Given the description of an element on the screen output the (x, y) to click on. 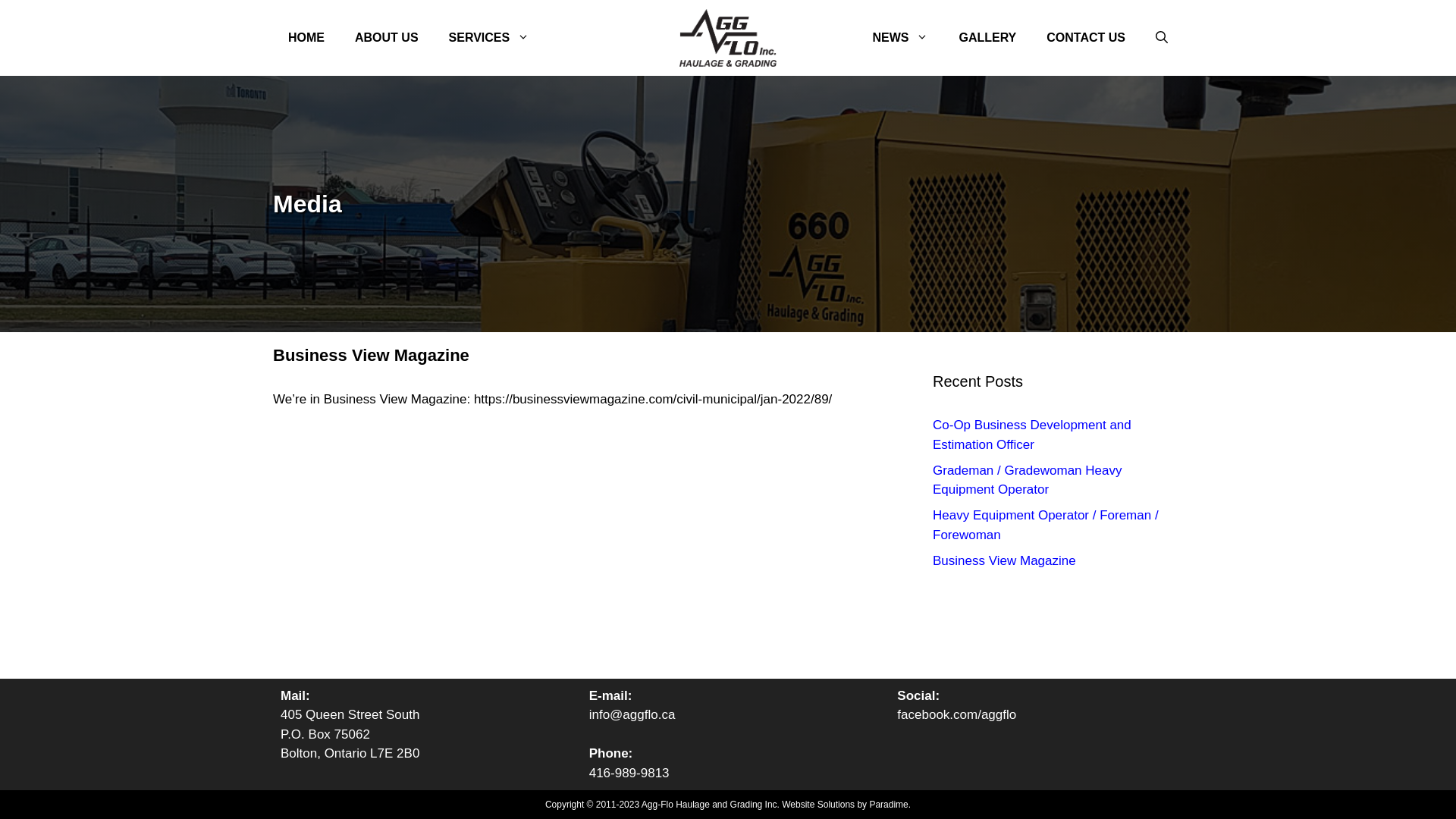
SERVICES Element type: text (489, 37)
Grademan / Gradewoman Heavy Equipment Operator Element type: text (1026, 480)
info@aggflo.ca Element type: text (632, 714)
HOME Element type: text (306, 37)
facebook.com/aggflo Element type: text (956, 714)
NEWS Element type: text (899, 37)
416-989-9813 Element type: text (629, 772)
Business View Magazine Element type: text (371, 354)
Co-Op Business Development and Estimation Officer Element type: text (1031, 434)
Heavy Equipment Operator / Foreman / Forewoman Element type: text (1045, 525)
Paradime Element type: text (888, 804)
ABOUT US Element type: text (386, 37)
CONTACT US Element type: text (1085, 37)
GALLERY Element type: text (987, 37)
Business View Magazine Element type: text (1004, 560)
